Given the description of an element on the screen output the (x, y) to click on. 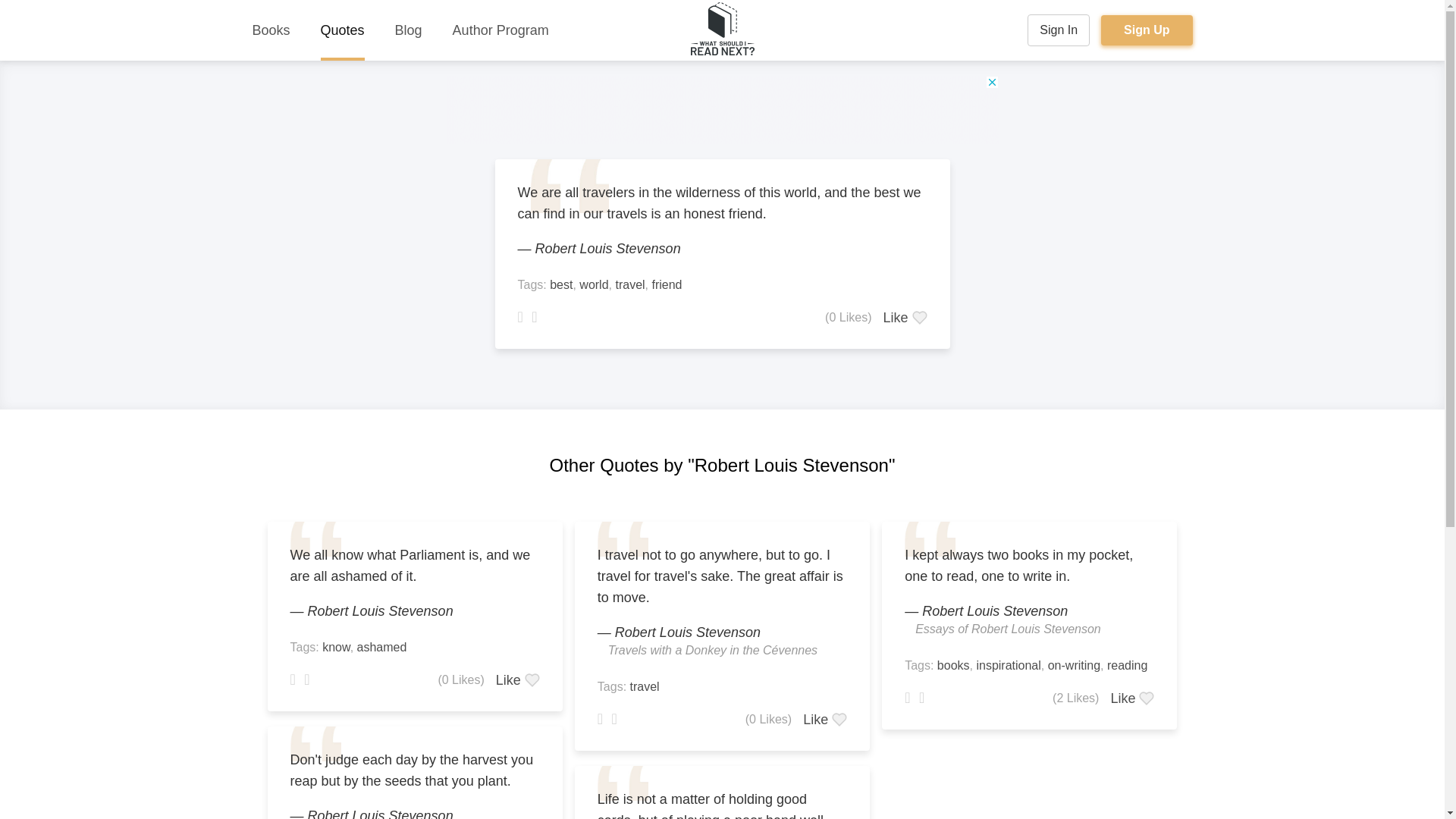
friend (665, 284)
Author Program (500, 30)
Quotes (342, 30)
world (593, 284)
Sign Up (1146, 30)
3rd party ad content (721, 110)
Robert Louis Stevenson (379, 813)
Robert Louis Stevenson (379, 611)
ashamed (381, 646)
